Given the description of an element on the screen output the (x, y) to click on. 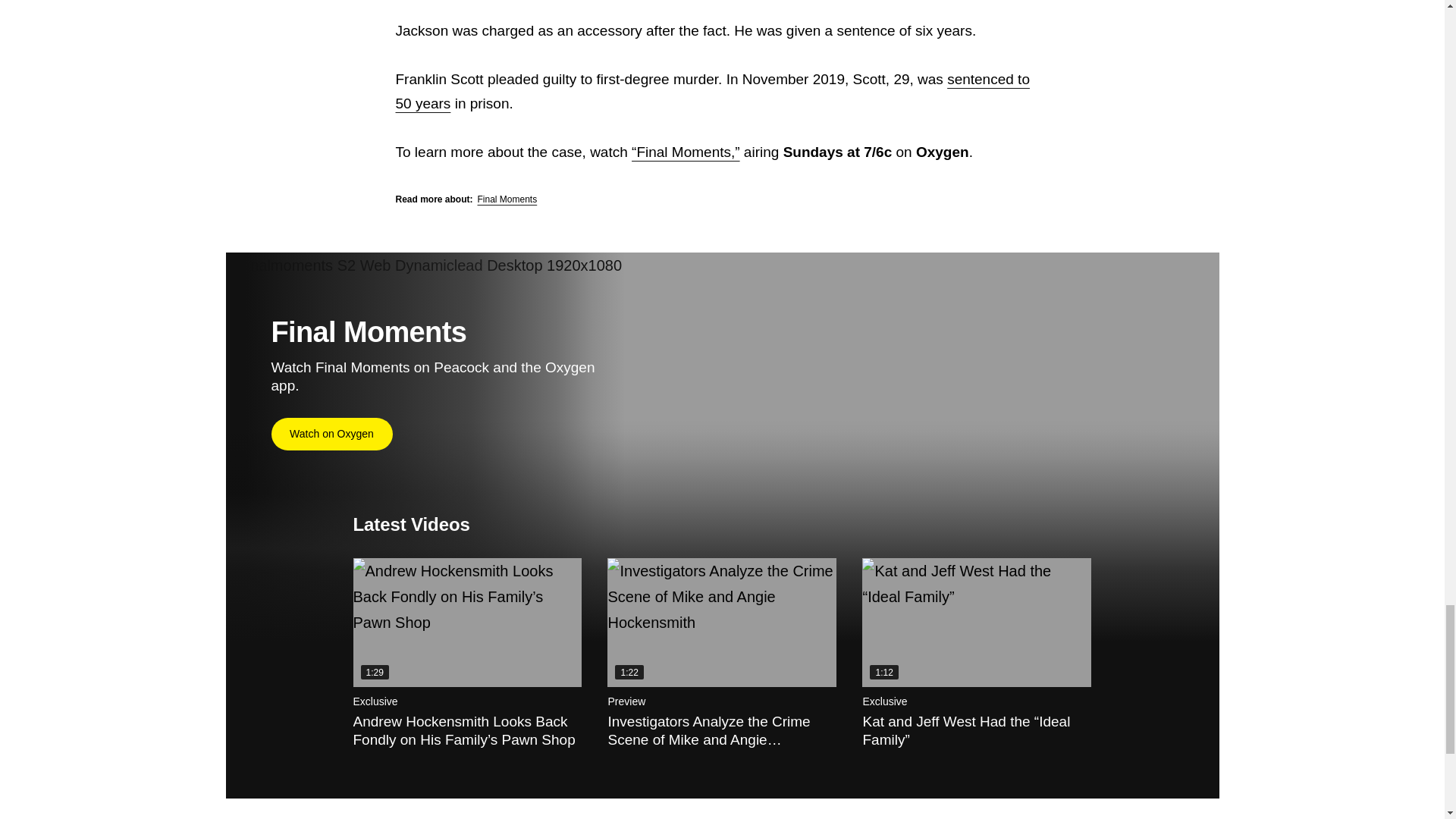
sentenced to 50 years (712, 91)
Watch on Oxygen (331, 433)
Final Moments (507, 199)
